Given the description of an element on the screen output the (x, y) to click on. 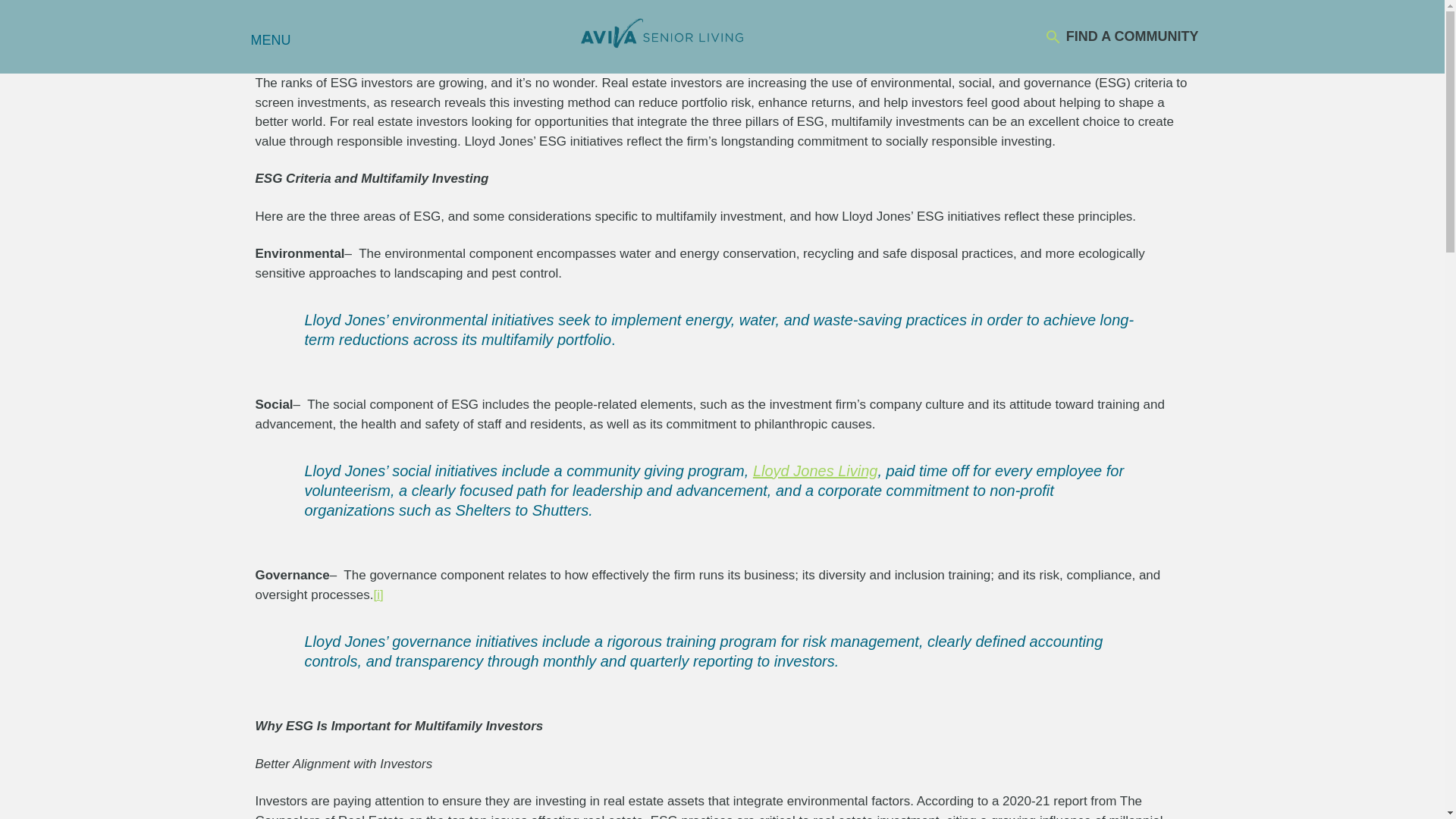
FIND A COMMUNITY (1120, 36)
MENU (267, 39)
Lloyd Jones Living (814, 470)
